Given the description of an element on the screen output the (x, y) to click on. 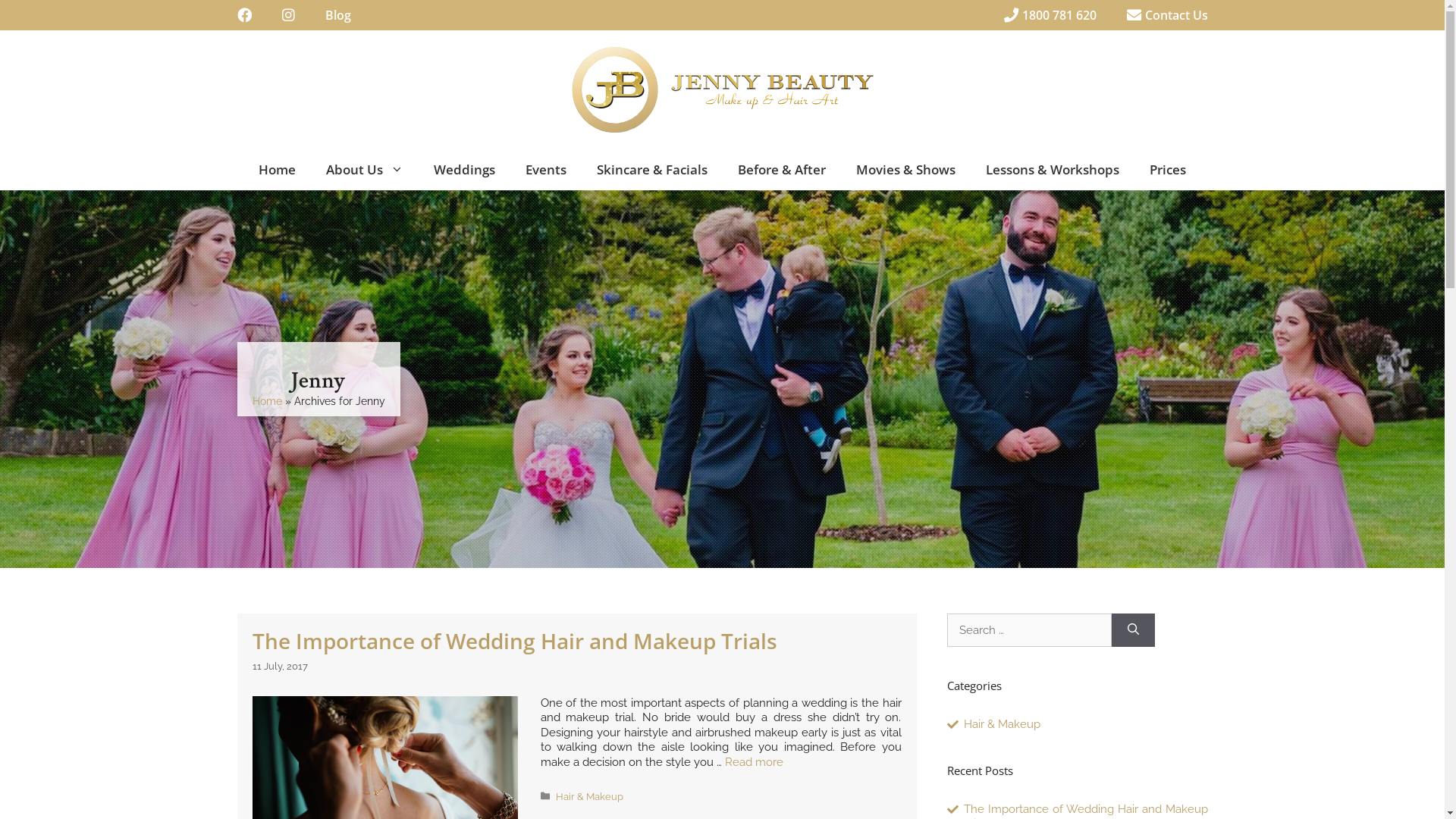
About Us Element type: text (364, 169)
Lessons & Workshops Element type: text (1052, 169)
Home Element type: text (266, 401)
Read more Element type: text (753, 761)
The Importance of Wedding Hair and Makeup Trials Element type: text (513, 640)
Facbook Element type: hover (243, 15)
Home Element type: text (276, 169)
Jenny Beauty Element type: hover (721, 88)
Movies & Shows Element type: text (905, 169)
Before & After Element type: text (781, 169)
Jenny Beauty Element type: hover (721, 89)
Events Element type: text (545, 169)
Blog Element type: text (337, 15)
Hair & Makeup Element type: text (1001, 724)
Hair & Makeup Element type: text (589, 796)
1800 781 620 Element type: text (1049, 15)
Prices Element type: text (1167, 169)
Search for: Element type: hover (1028, 630)
Contact Us Element type: text (1167, 15)
Weddings Element type: text (464, 169)
Skincare & Facials Element type: text (651, 169)
Instagram Element type: hover (288, 15)
